Given the description of an element on the screen output the (x, y) to click on. 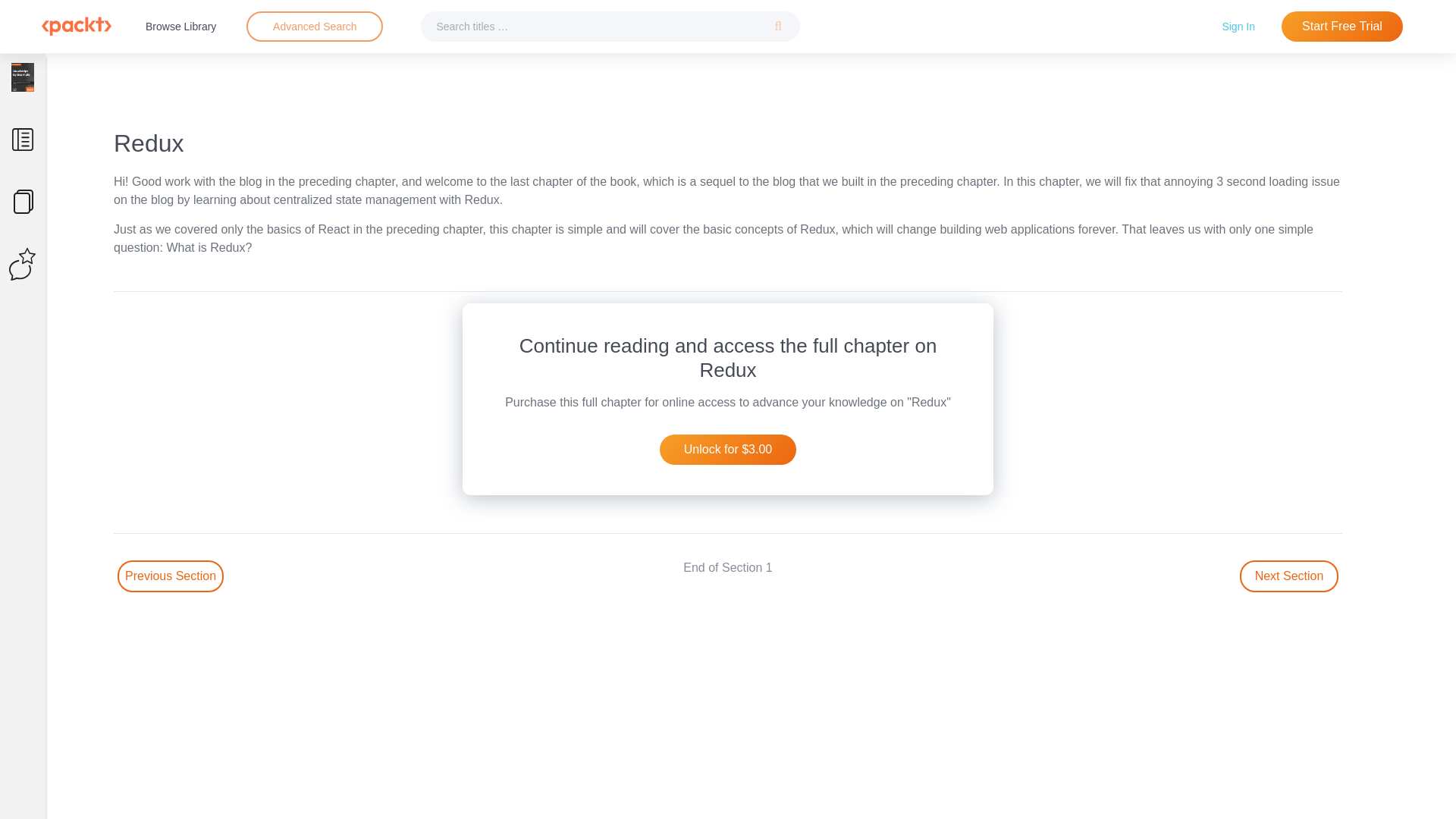
Go to Previous section (170, 576)
Advanced Search (314, 26)
Sign In (1238, 26)
Advanced Search (315, 26)
Start Free Trial (1342, 26)
Browse Library (180, 26)
Go to next section (1289, 576)
Advanced search (314, 26)
